Given the description of an element on the screen output the (x, y) to click on. 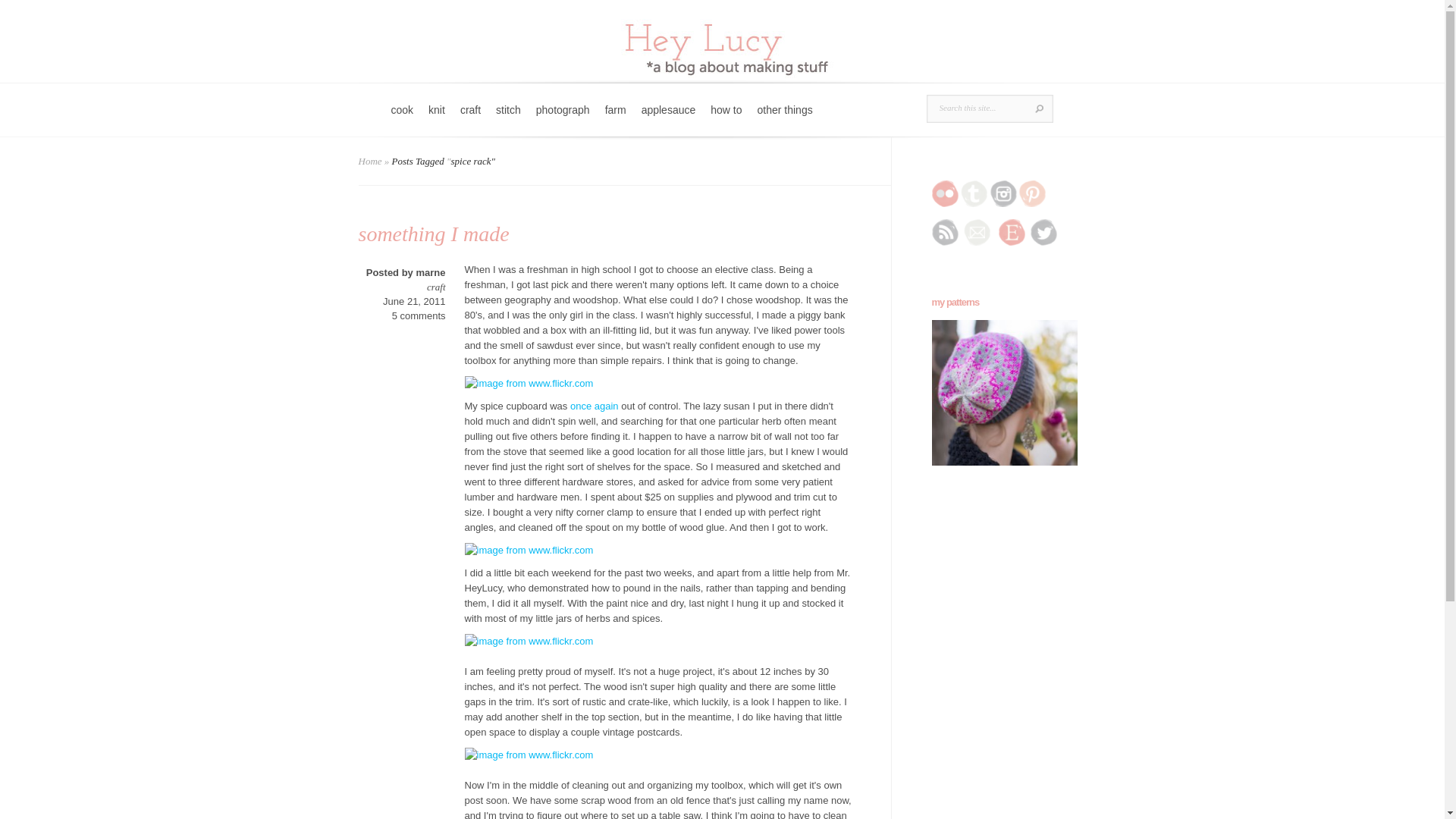
other things (785, 119)
5 comments (418, 315)
photograph (562, 119)
Home (369, 161)
something I made (433, 233)
knit (436, 119)
cook (403, 119)
image from www.flickr.com (657, 549)
Search this site... (979, 107)
Posts by marne (429, 272)
